Given the description of an element on the screen output the (x, y) to click on. 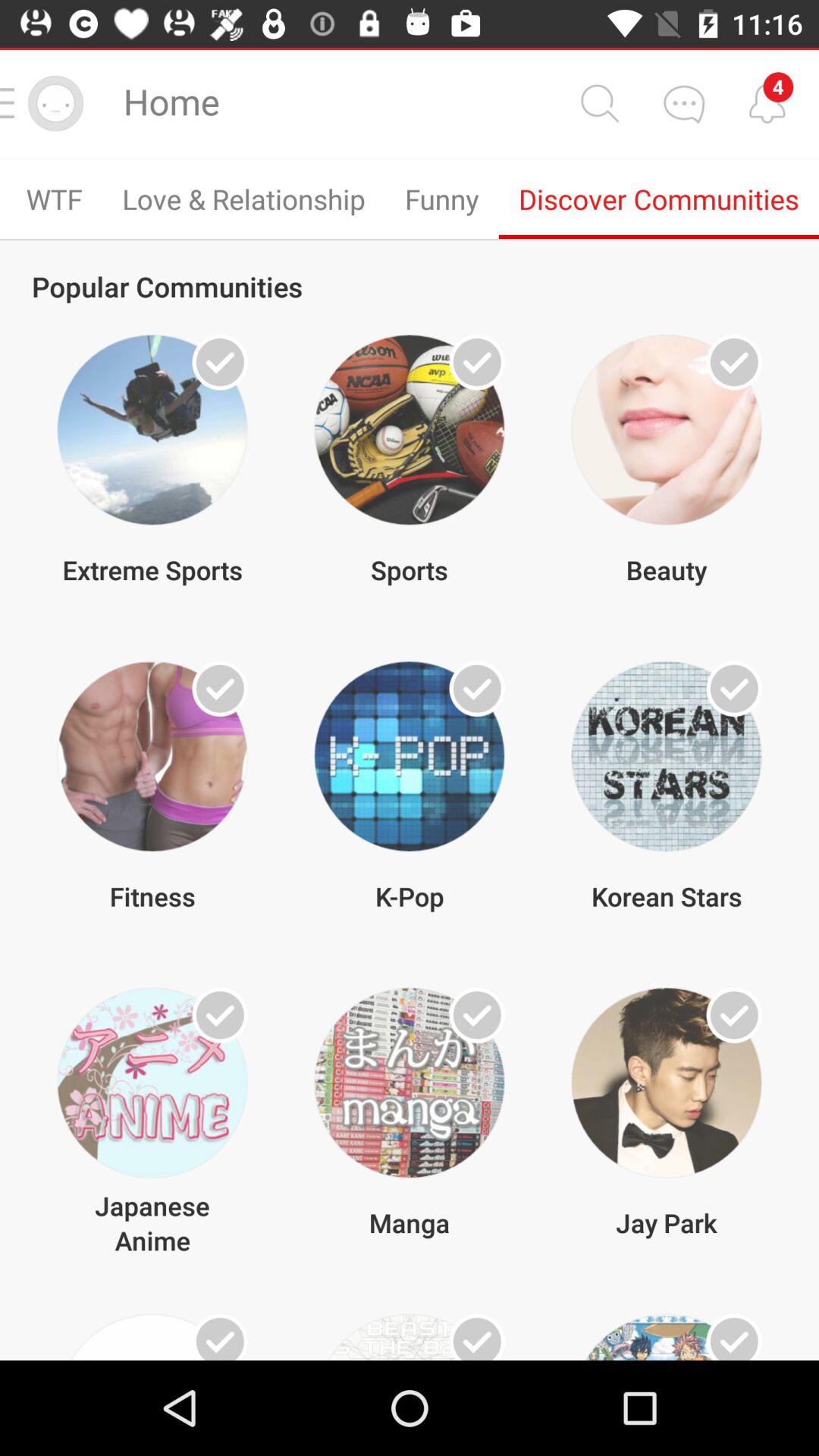
show me more from this community (219, 688)
